Given the description of an element on the screen output the (x, y) to click on. 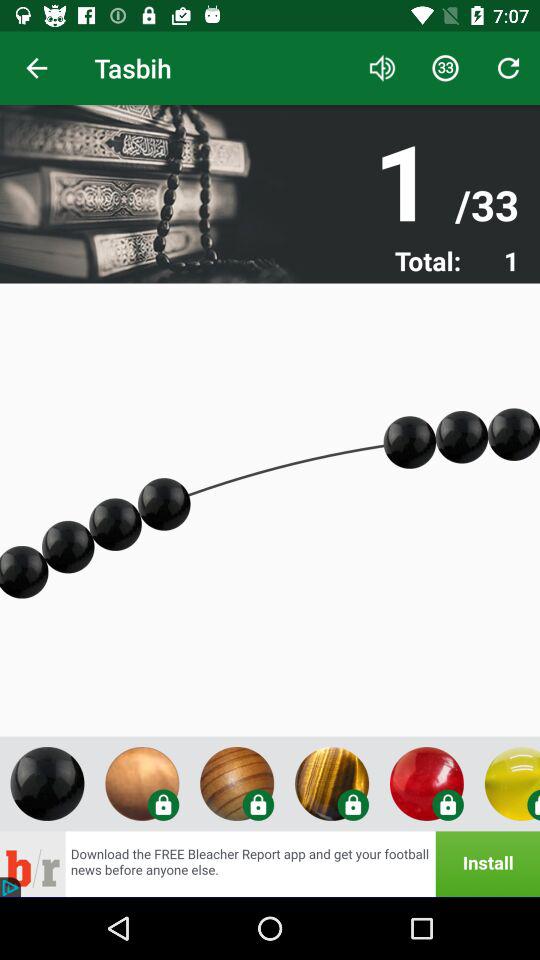
open item to the left of the tasbih icon (36, 68)
